Given the description of an element on the screen output the (x, y) to click on. 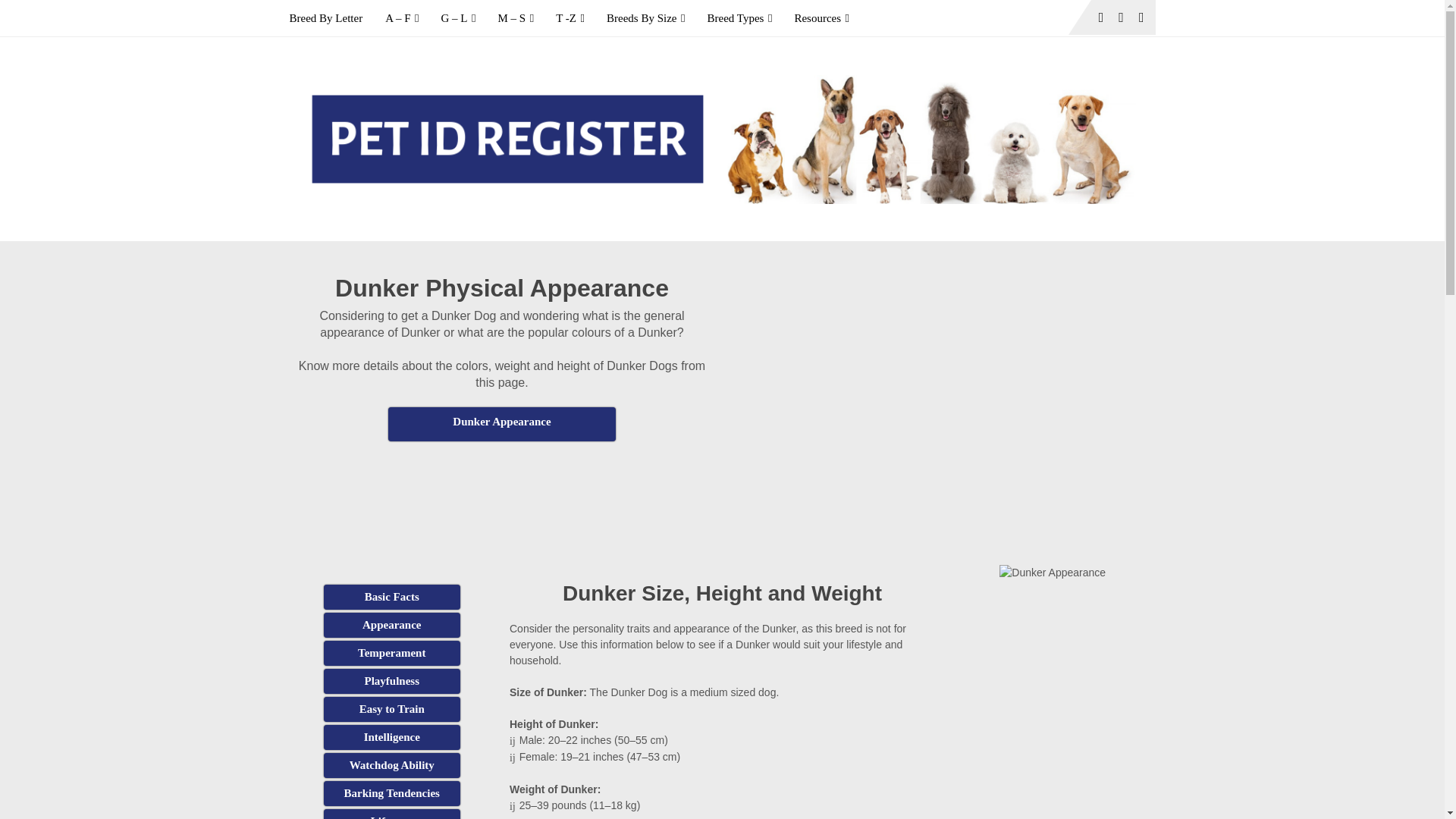
Are Dunker Dogs Easy to Train? (391, 708)
How long can Dunker Dogs live for? (391, 814)
Do Dunker Dogs bark a lot? (391, 793)
How does a Dunker Dog look like? (391, 625)
Breed By Letter (331, 18)
What are the temperaments of Dunker Dogs? (391, 652)
tooltip (501, 424)
Breeds By Size (645, 18)
Will Dunker Dogs make good guard dogs? (391, 765)
Are Dunker Dogs playful? (391, 681)
